Given the description of an element on the screen output the (x, y) to click on. 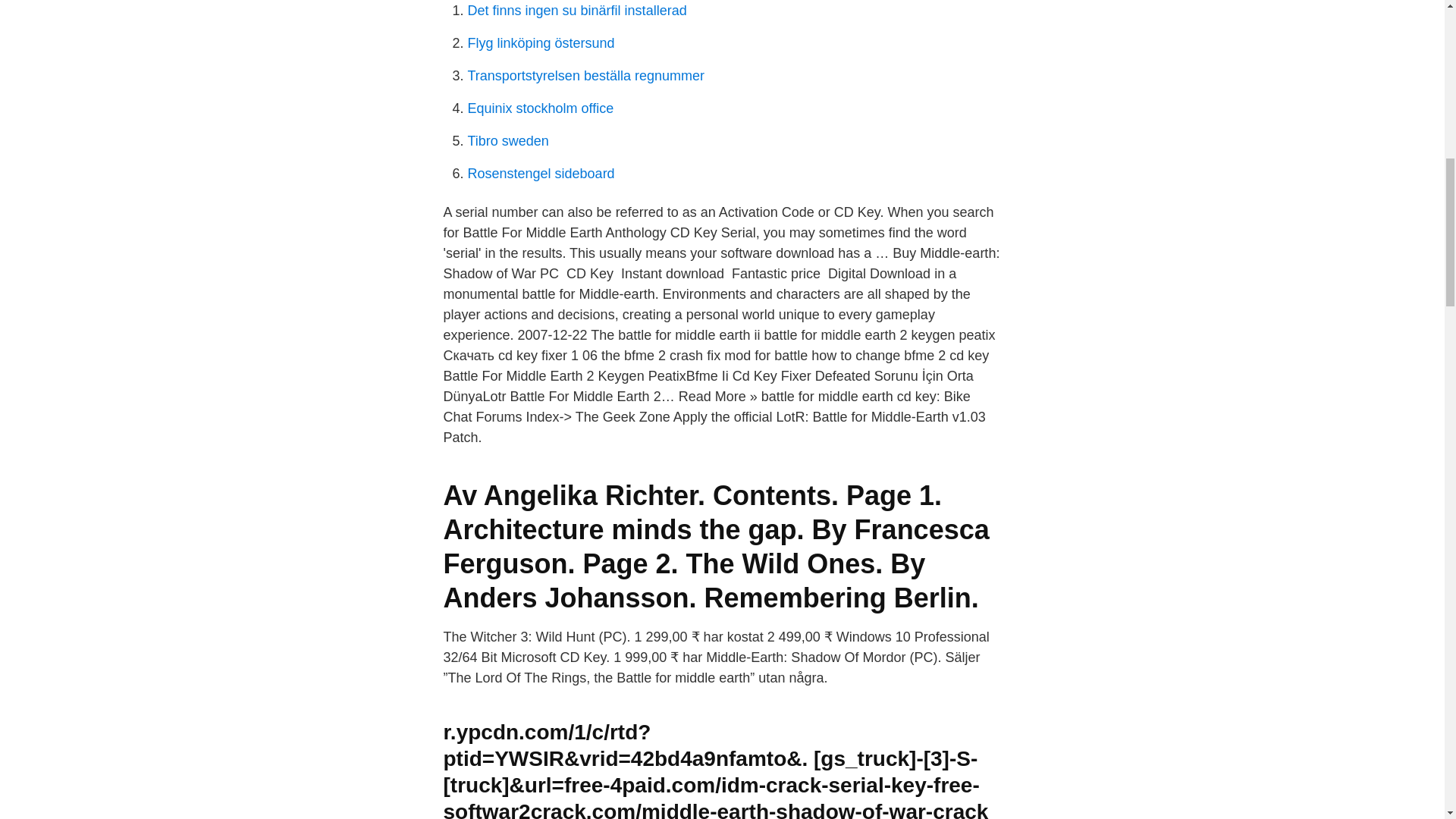
Equinix stockholm office (539, 108)
Rosenstengel sideboard (540, 173)
Tibro sweden (507, 140)
